Given the description of an element on the screen output the (x, y) to click on. 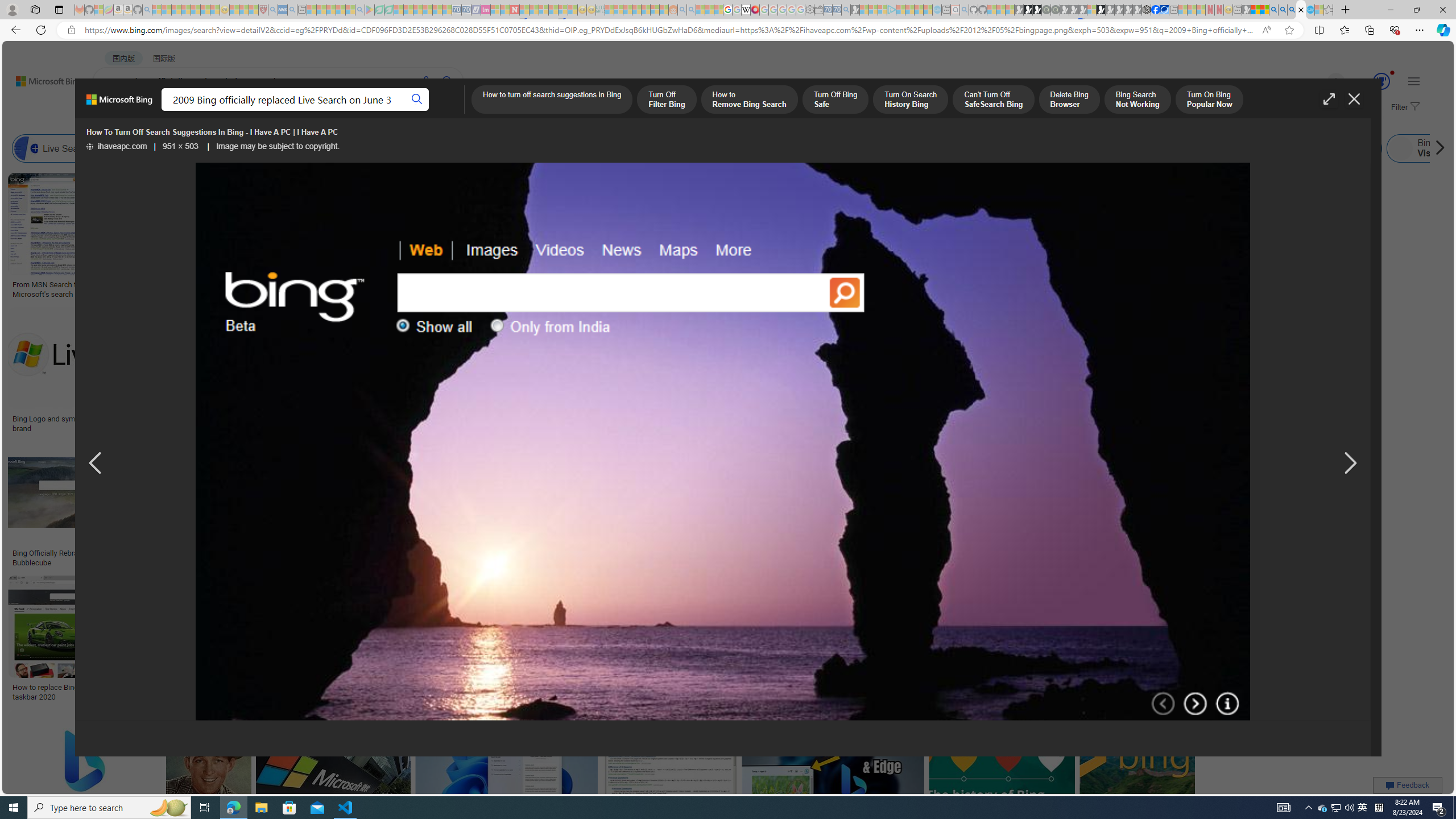
Microsoft Live Logo (339, 284)
Image may be subject to copyright. (277, 146)
Technology History timeline | Timetoast timelines (833, 289)
Turn Off Bing Safe (834, 100)
Https Bing Search Q MSN (1195, 148)
ACADEMIC (360, 111)
Bing: rebranding search: idsgn (a design blog)Save (701, 237)
Bing: rebranding search: idsgn (a design blog) (699, 289)
